Given the description of an element on the screen output the (x, y) to click on. 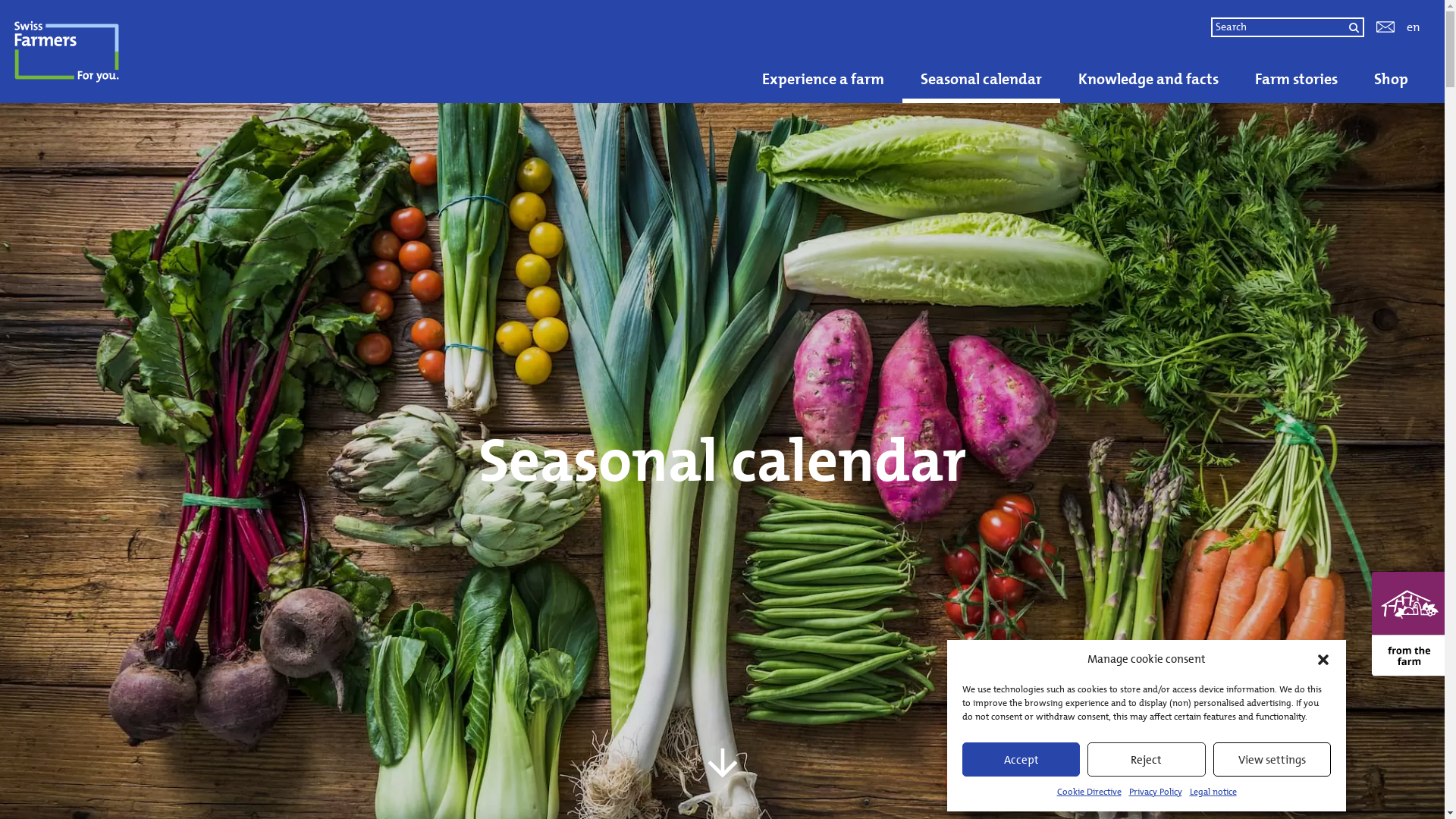
Farm search Element type: text (135, 37)
Teaching materials (in German) Element type: text (1047, 46)
For schools Element type: text (1063, 28)
Seasonal calendar fruits Element type: text (542, 48)
Land service (in German) Element type: text (622, 46)
Seasonal calendar vegetables Element type: text (885, 48)
Visit on the farm (in German) Element type: text (1251, 46)
From the farm Element type: text (490, 46)
Reject Element type: text (1145, 759)
Stable visit Element type: text (742, 46)
Seasonal calendar Element type: text (981, 78)
Swiss Farmers Element type: text (124, 51)
1st August Farm Brunch Element type: text (257, 46)
Kontakt Element type: text (1385, 27)
Knowledge and facts Element type: text (1148, 78)
Cookie Directive Element type: text (1089, 792)
On the farm Element type: text (477, 28)
Legal notice Element type: text (1212, 792)
Seasonal calendar herbs Element type: text (704, 48)
agro-image (in German) Element type: text (859, 46)
View settings Element type: text (1271, 759)
Farm stories Element type: text (1295, 78)
Shop Element type: text (1390, 78)
Accept Element type: text (1020, 759)
Privacy Policy Element type: text (1154, 792)
Experience a farm Element type: text (822, 78)
Farm Open Day Element type: text (390, 46)
